Given the description of an element on the screen output the (x, y) to click on. 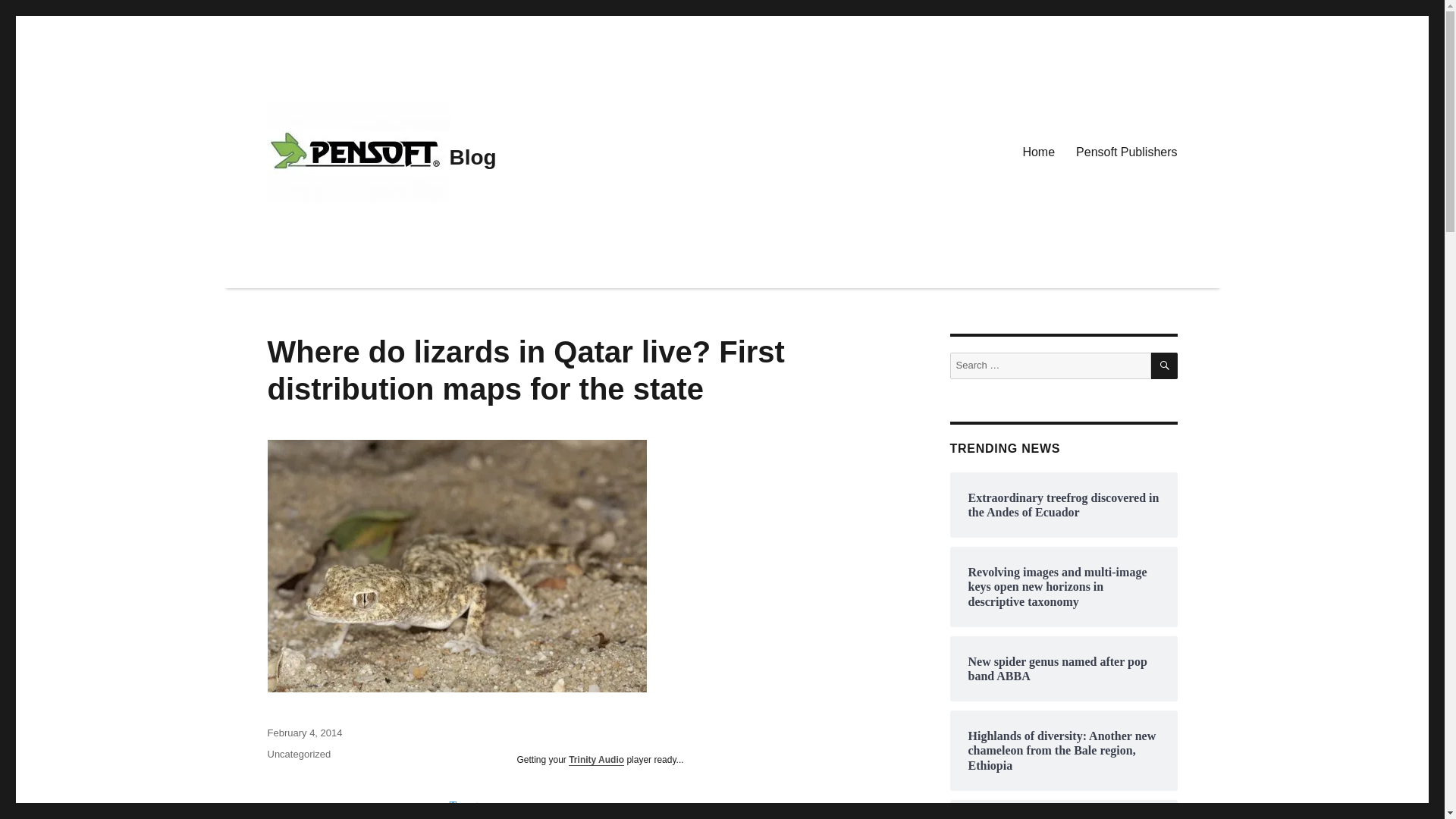
Blog (472, 156)
Extraordinary treefrog discovered in the Andes of Ecuador (1063, 504)
New spider genus named after pop band ABBA (1063, 668)
Tweet (463, 805)
Home (1038, 152)
Pensoft Publishers (1126, 152)
Uncategorized (298, 754)
Trinity Audio (596, 759)
SEARCH (1164, 365)
